Given the description of an element on the screen output the (x, y) to click on. 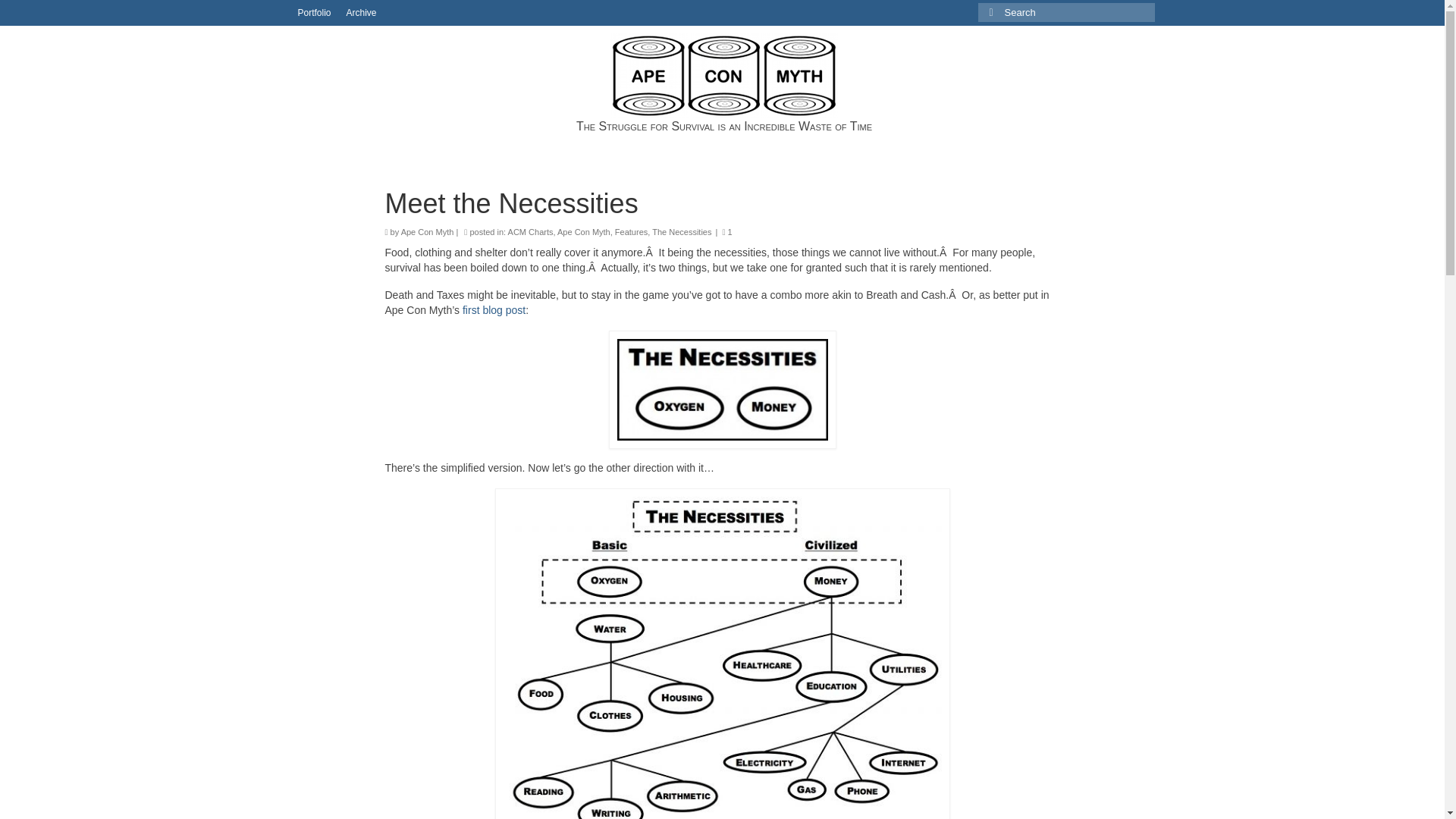
Ape Con Myth (724, 75)
Ape Con Myth (427, 231)
The Necessities (681, 231)
Ape Con Myth (583, 231)
ACM Charts (530, 231)
first blog post (494, 309)
Features (630, 231)
Portfolio (313, 12)
1 (727, 231)
Archive (361, 12)
